Given the description of an element on the screen output the (x, y) to click on. 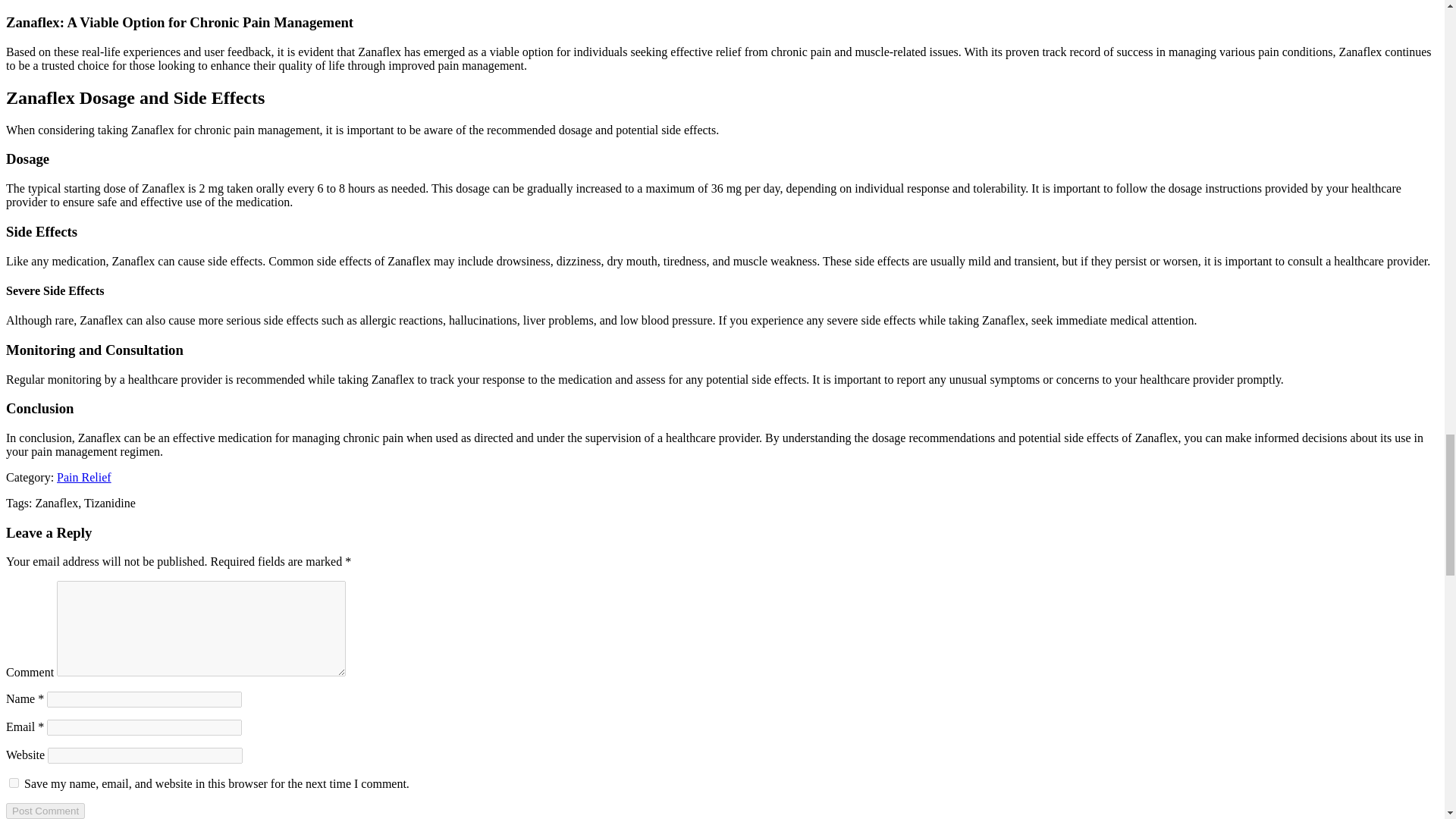
yes (13, 782)
Post Comment (44, 811)
Post Comment (44, 811)
Pain Relief (84, 477)
